Given the description of an element on the screen output the (x, y) to click on. 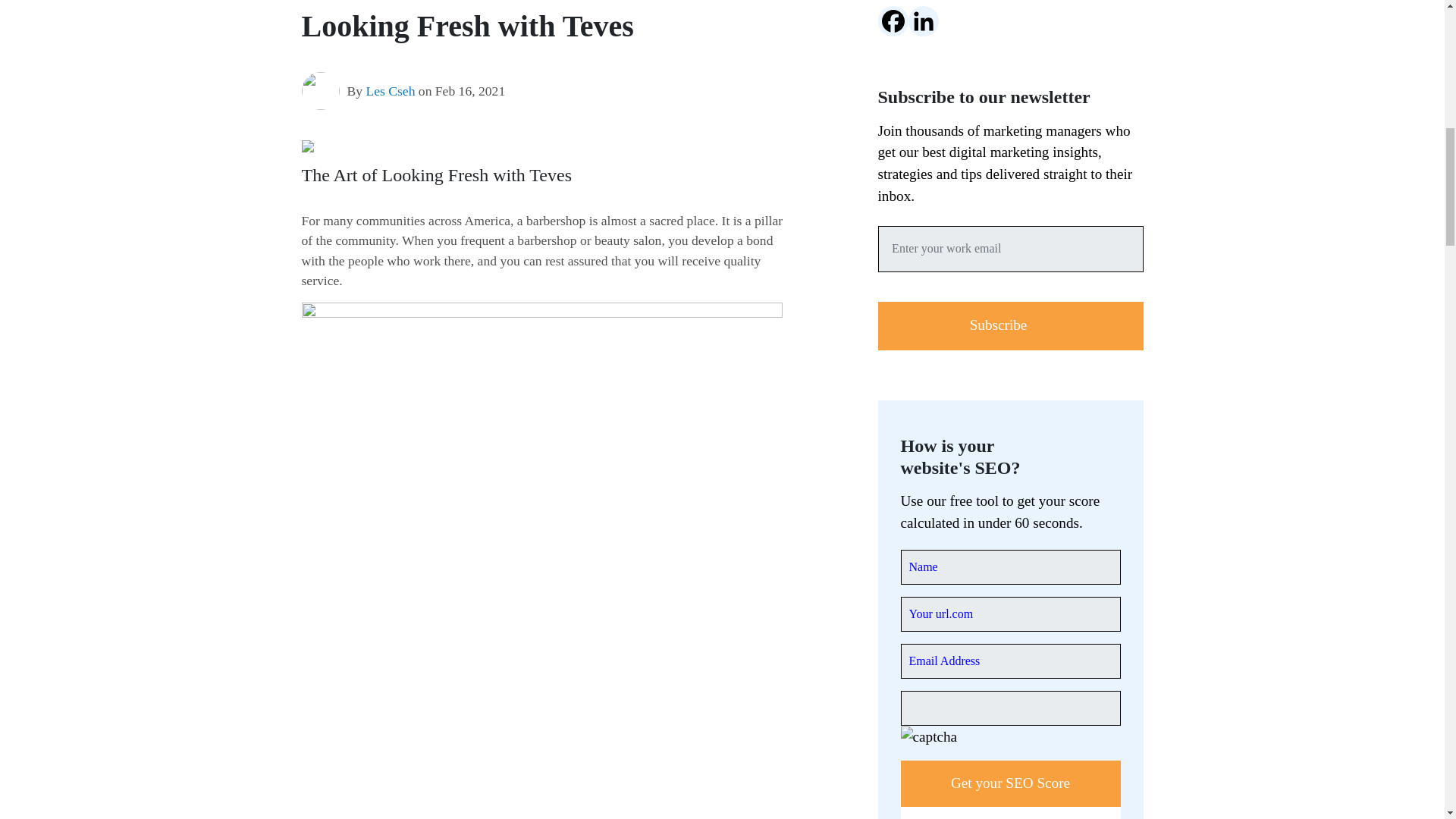
Get your SEO Score (1011, 783)
Subscribe (1009, 326)
Subscribe (1009, 326)
Linkedin (923, 20)
Get your SEO Score (1011, 783)
Subscribe (1009, 326)
Facebook (892, 20)
